Given the description of an element on the screen output the (x, y) to click on. 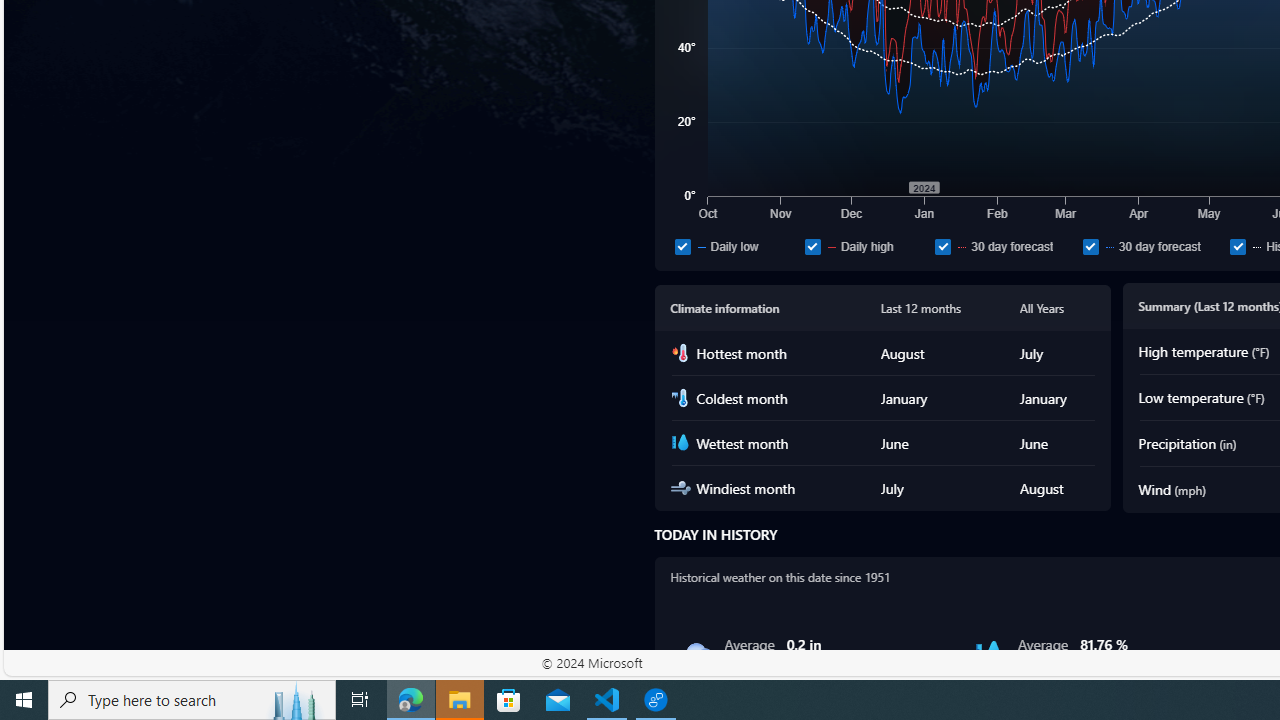
Daily low (735, 246)
Daily high (811, 246)
30 day forecast (1151, 246)
Daily low (682, 246)
Historical daily temperature (1238, 246)
Humidity (989, 654)
Rain (695, 654)
Daily high (865, 246)
30 day forecast (1090, 246)
